Given the description of an element on the screen output the (x, y) to click on. 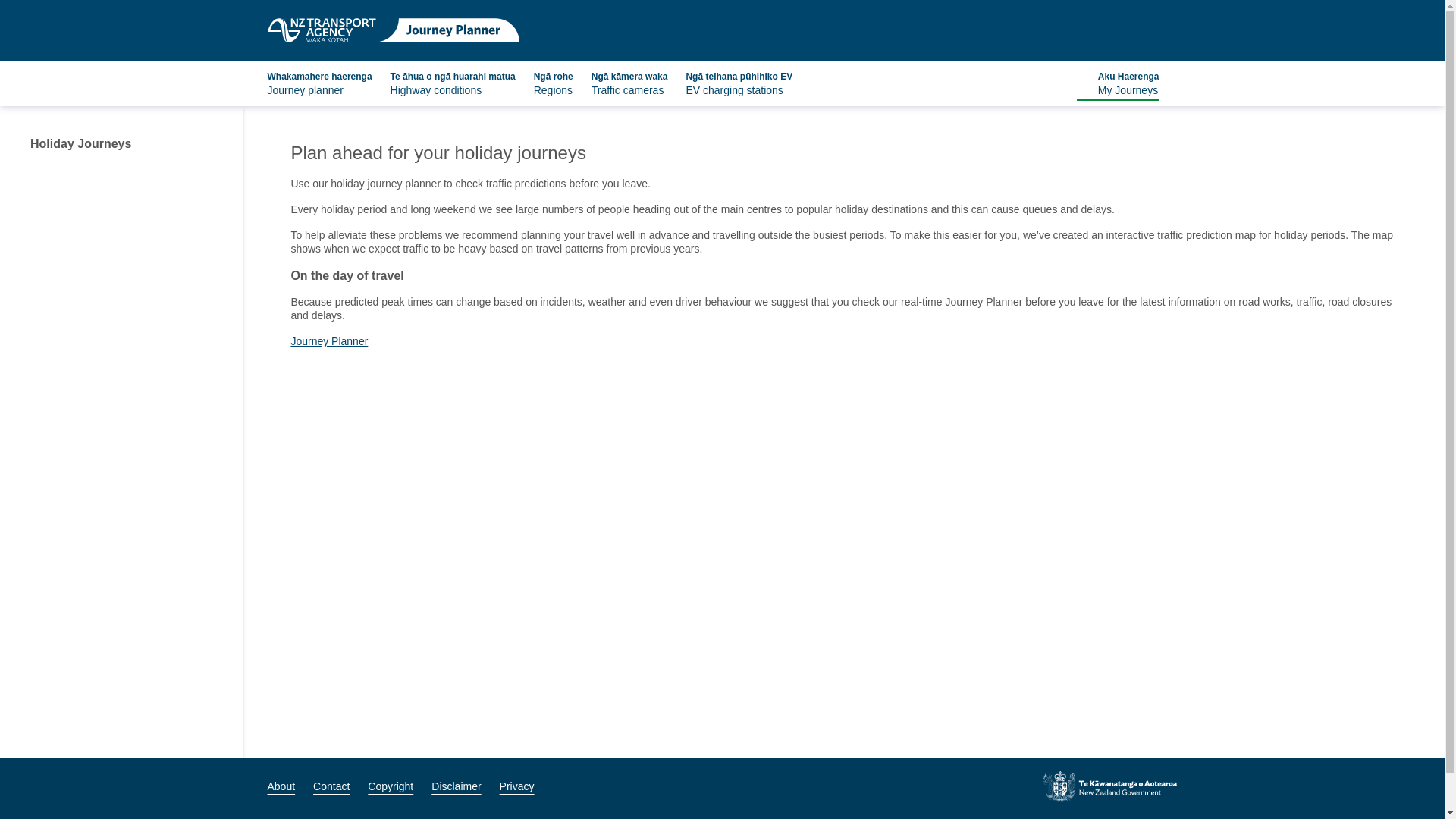
Copyright (390, 786)
Disclaimer (1117, 83)
Journey Planner (455, 786)
Contact (328, 340)
About (331, 786)
Privacy (318, 83)
